Given the description of an element on the screen output the (x, y) to click on. 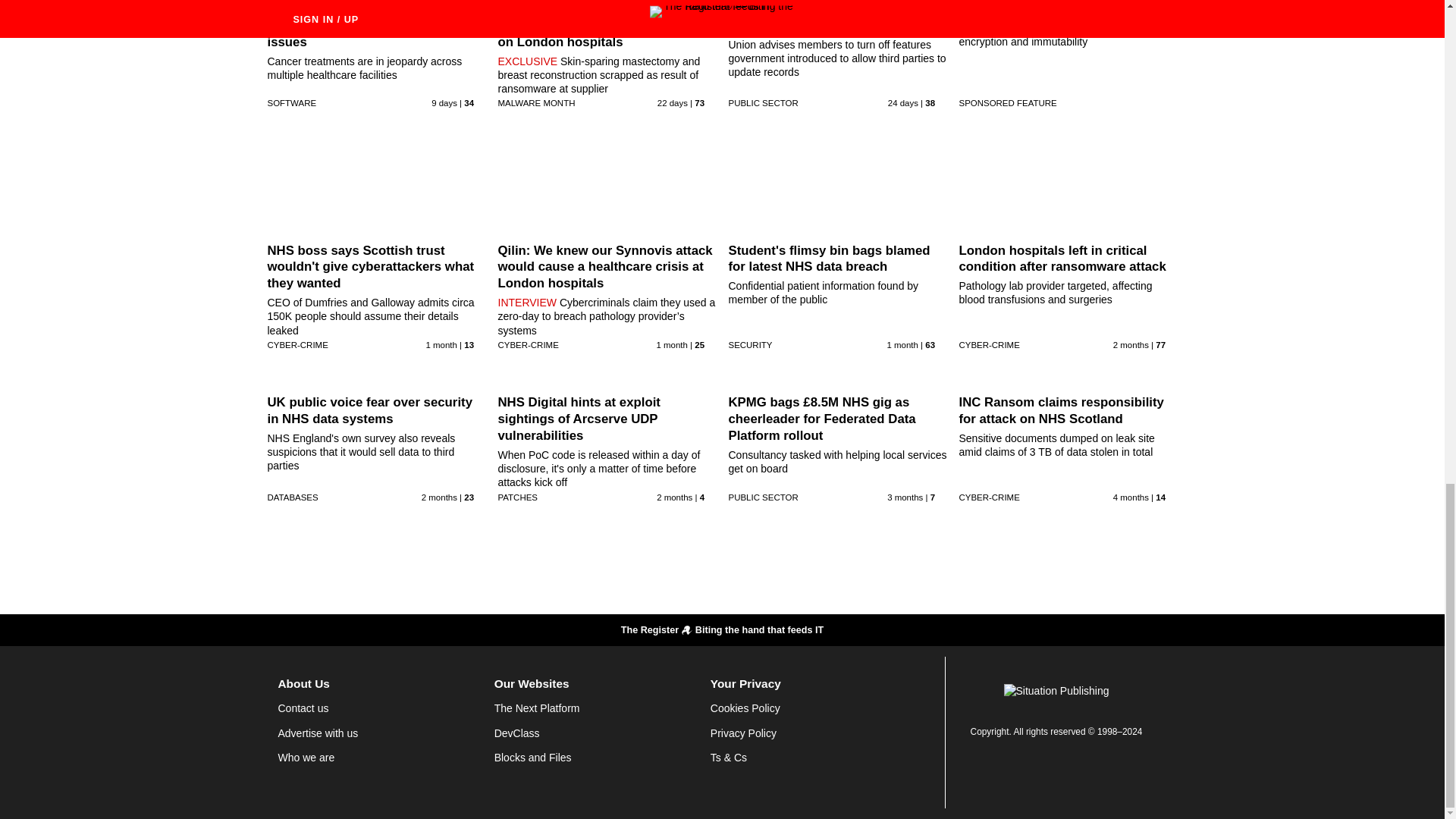
20 Jun 2024 10:29 (671, 344)
5 Jul 2024 17:0 (672, 102)
4 Jul 2024 9:31 (903, 102)
13 Jun 2024 11:30 (901, 344)
19 Jul 2024 12:43 (443, 102)
18 Jun 2024 11:29 (441, 344)
14 May 2024 9:29 (674, 497)
13 May 2024 10:15 (439, 497)
4 Jun 2024 15:43 (1130, 344)
